Given the description of an element on the screen output the (x, y) to click on. 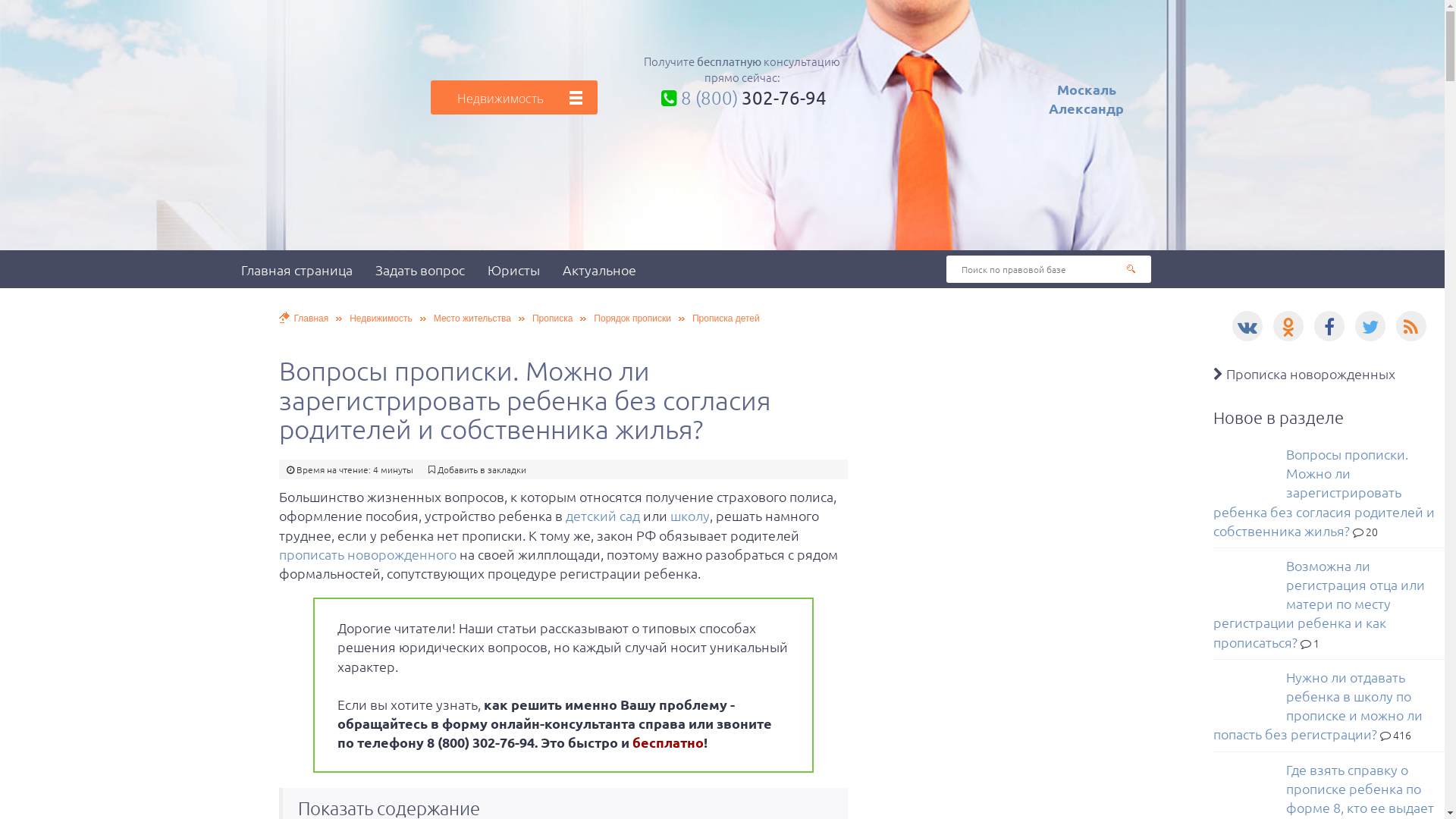
8 (800) 302-76-94 Element type: text (741, 96)
